Given the description of an element on the screen output the (x, y) to click on. 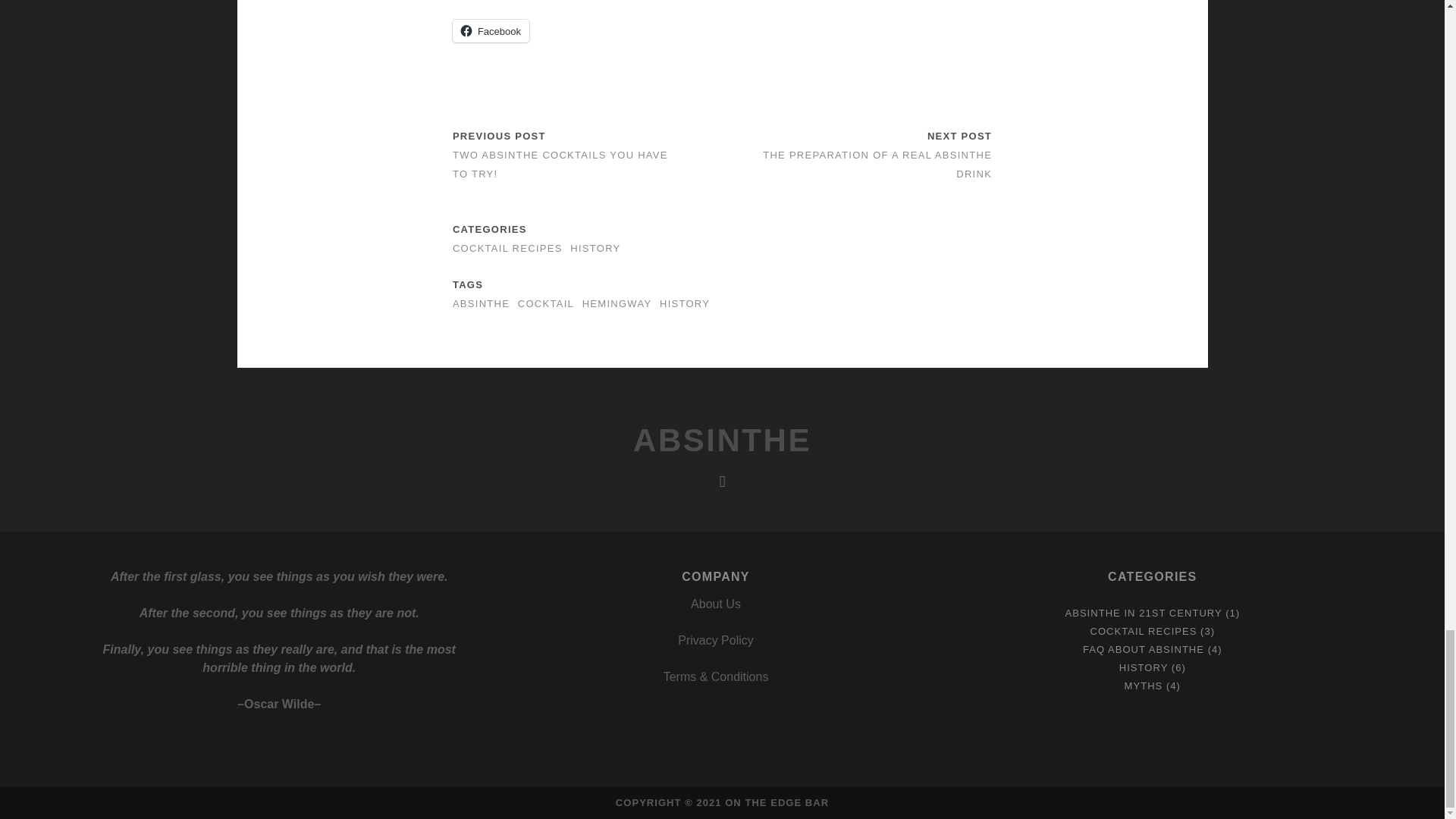
ABSINTHE IN 21ST CENTURY (1142, 613)
ABSINTHE (721, 439)
About Us (715, 603)
FAQ ABOUT ABSINTHE (1143, 649)
ABSINTHE (480, 303)
View all posts tagged cocktail (545, 303)
View all posts in history (595, 247)
Click to share on Facebook (490, 30)
Privacy Policy (716, 640)
HEMINGWAY (617, 303)
COCKTAIL RECIPES (507, 247)
MYTHS (1143, 685)
HISTORY (684, 303)
View all posts tagged absinthe (480, 303)
HISTORY (1143, 667)
